Given the description of an element on the screen output the (x, y) to click on. 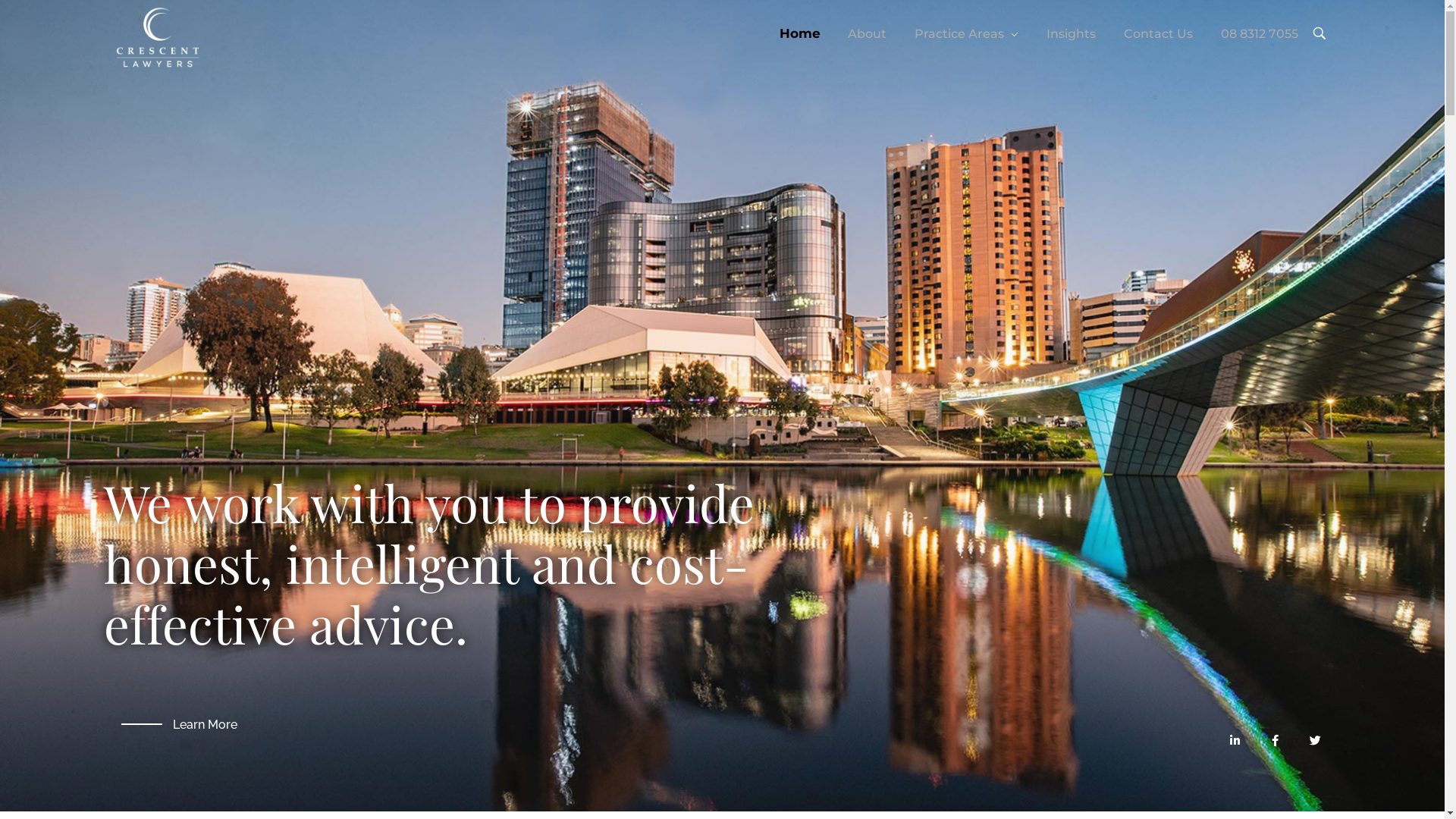
08 8312 7055 Element type: text (1251, 34)
Learn More Element type: text (179, 724)
About Element type: text (867, 34)
Insights Element type: text (1071, 34)
Home Element type: text (806, 34)
Contact Us Element type: text (1157, 34)
